Given the description of an element on the screen output the (x, y) to click on. 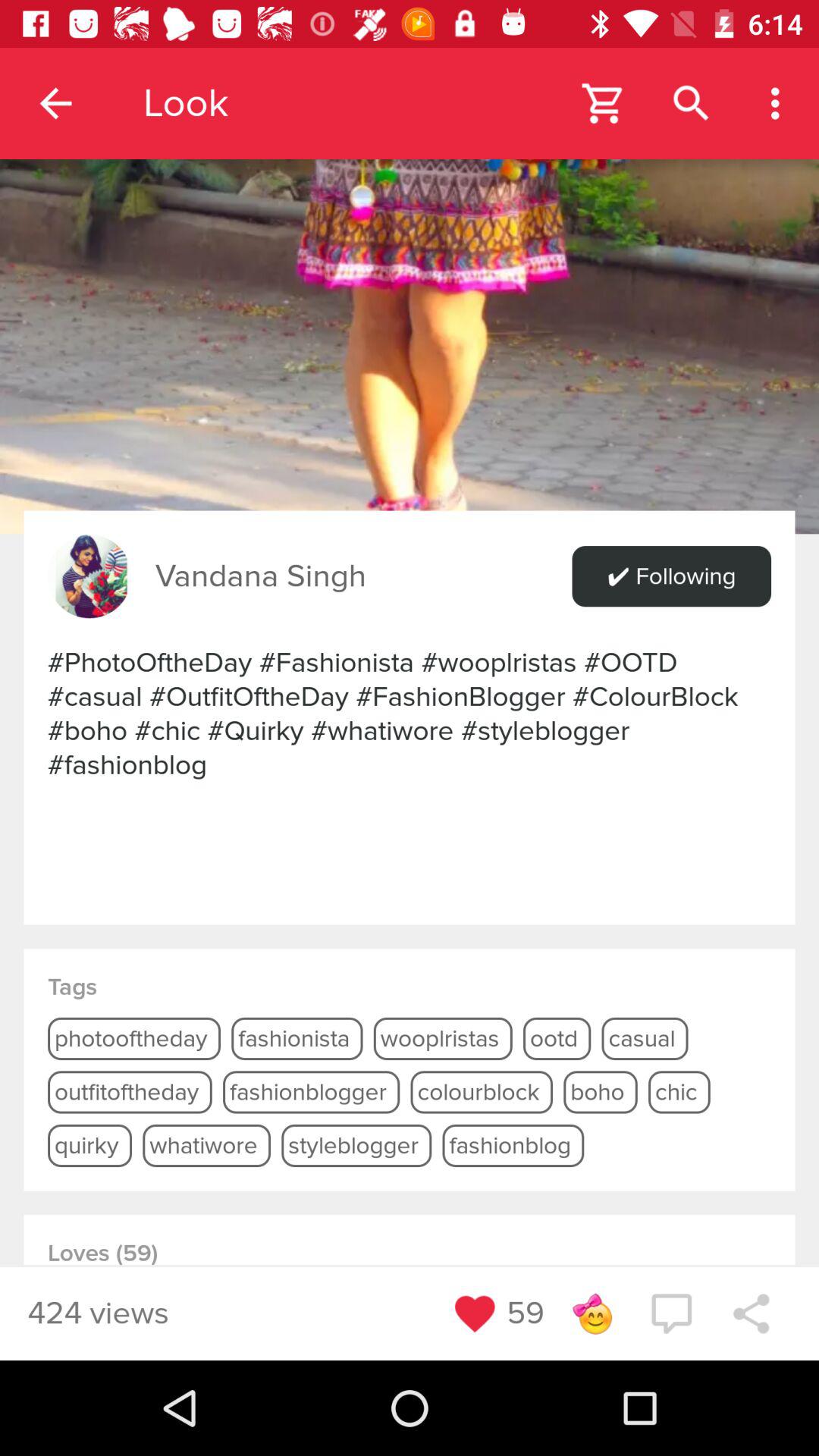
turn off icon next to 59 item (591, 1313)
